Given the description of an element on the screen output the (x, y) to click on. 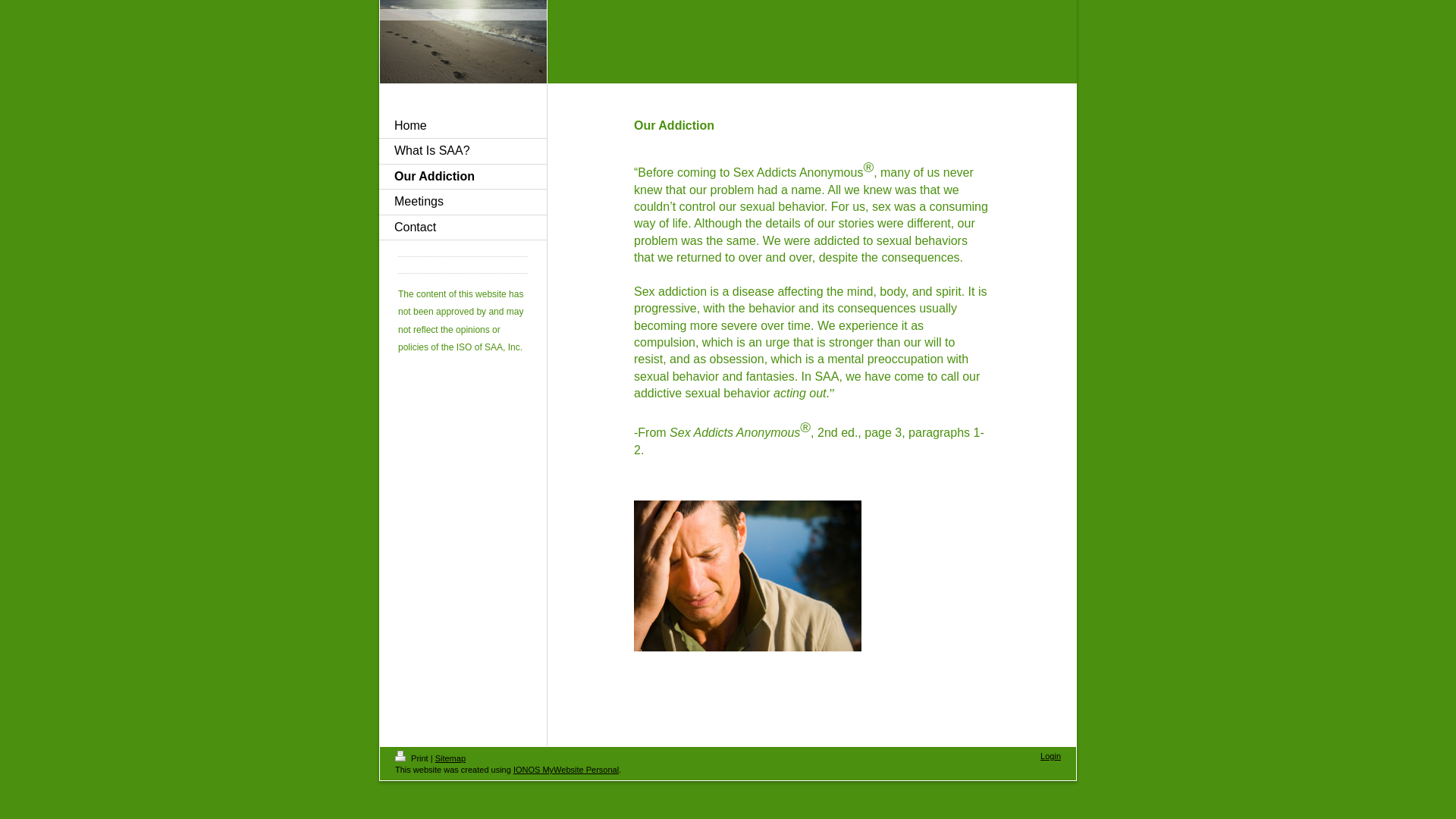
Login (1051, 755)
IONOS MyWebsite Personal (565, 768)
Sitemap (450, 757)
What Is SAA? (462, 150)
Meetings (462, 201)
Contact (462, 227)
Our Addiction (462, 176)
Print (412, 757)
Home (462, 125)
